Given the description of an element on the screen output the (x, y) to click on. 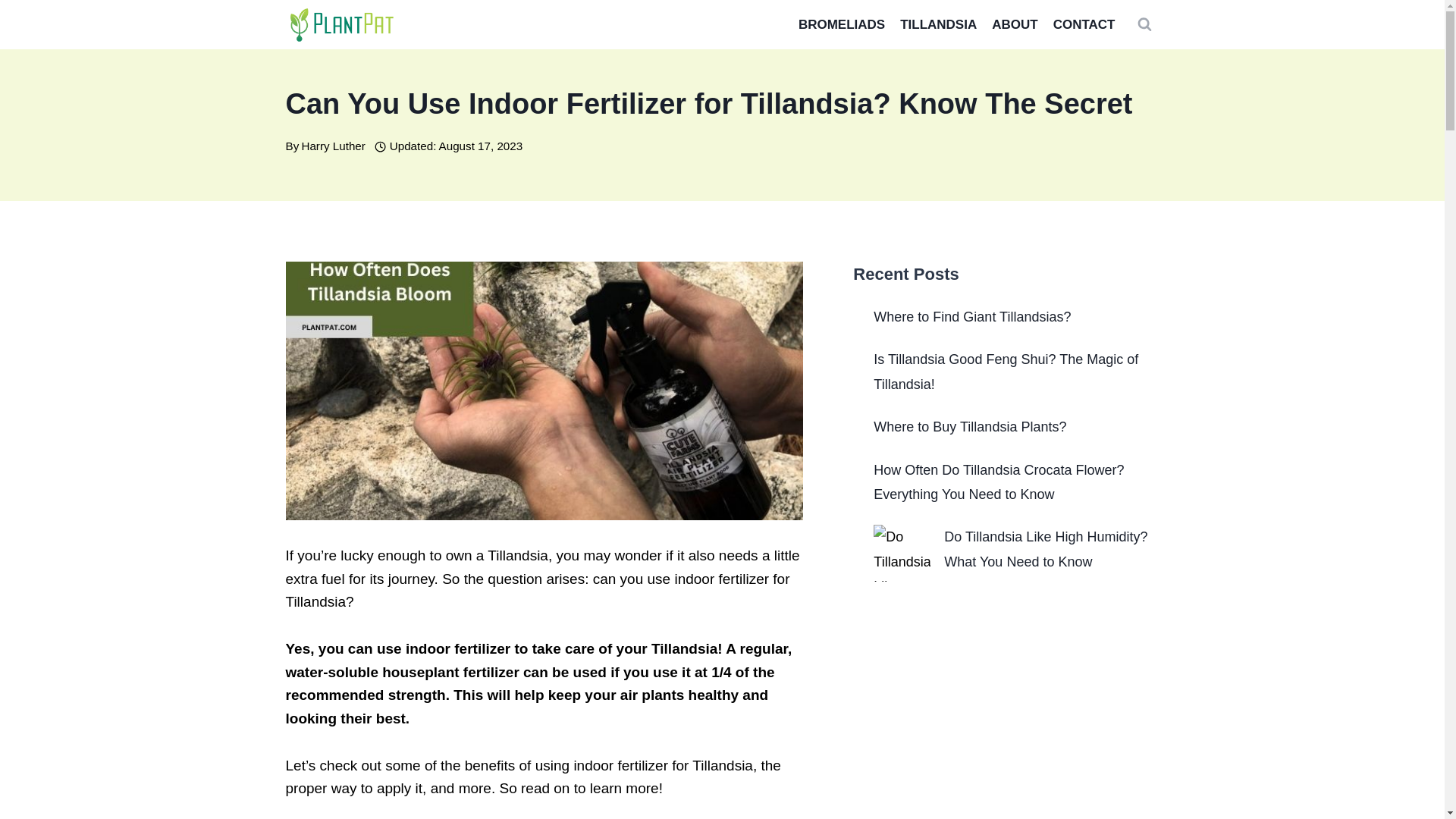
Do Tillandsia Like High Humidity? What You Need to Know (1045, 548)
CONTACT (1083, 24)
TILLANDSIA (938, 24)
ABOUT (1014, 24)
Where to Buy Tillandsia Plants? (969, 426)
Harry Luther (333, 145)
Can You Use Indoor Fertilizer for Tillandsia (543, 390)
Is Tillandsia Good Feng Shui? The Magic of Tillandsia! (1005, 371)
Where to Find Giant Tillandsias? (971, 316)
Do Tillandsia Like High Humidity (901, 552)
BROMELIADS (841, 24)
